Given the description of an element on the screen output the (x, y) to click on. 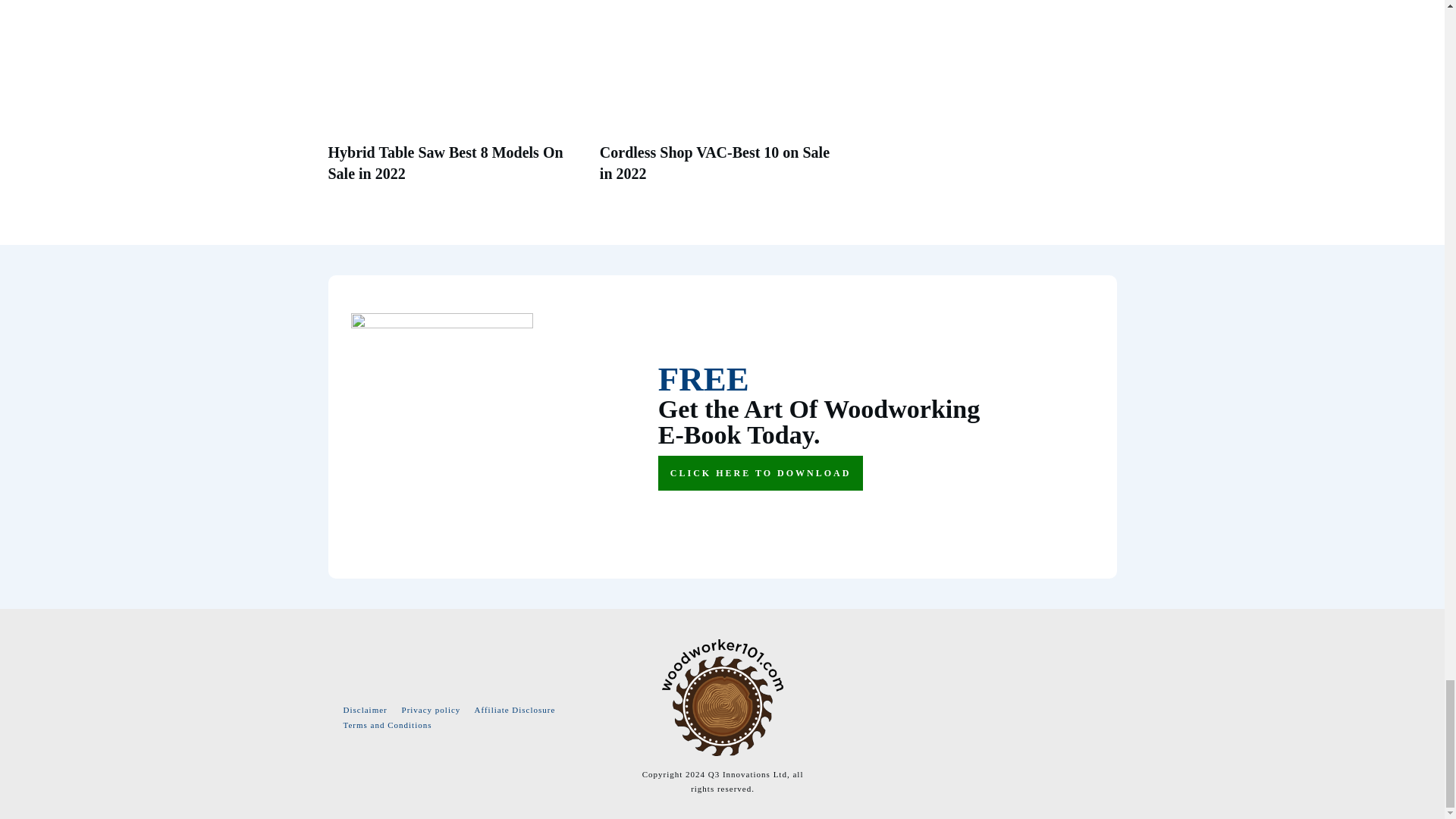
Privacy policy (431, 709)
Disclaimer (364, 709)
Affiliate Disclosure (515, 709)
Hybrid Table Saw Best 8 Models On Sale in 2022 (444, 162)
Terms and Conditions (386, 724)
Cordless Shop VAC-Best 10 on Sale in 2022 (714, 162)
CLICK HERE TO DOWNLOAD (760, 472)
Cordless Shop VAC-Best 10 on Sale in 2022 (714, 162)
Hybrid Table Saw Best 8 Models On Sale in 2022 (444, 162)
